Given the description of an element on the screen output the (x, y) to click on. 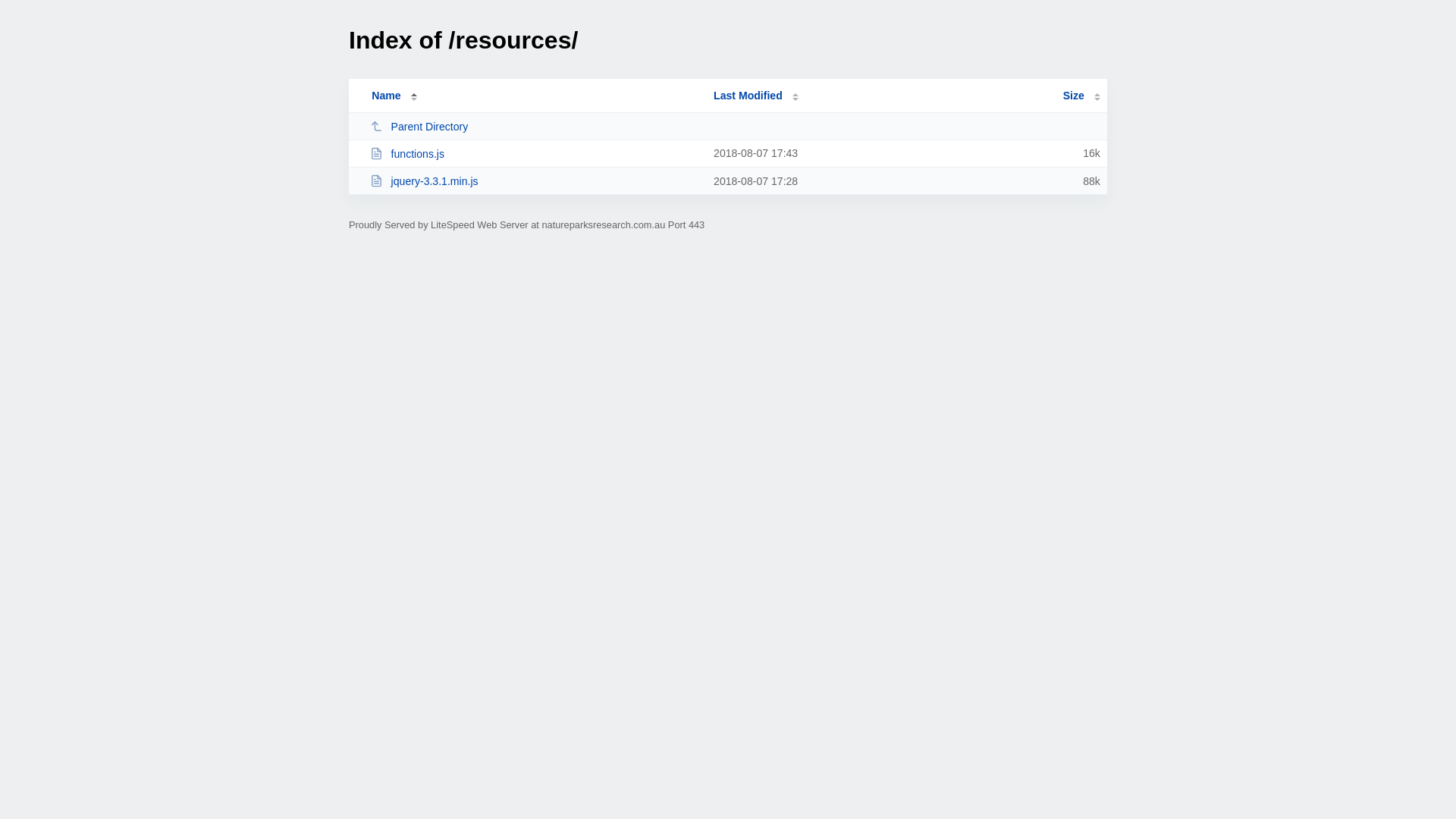
functions.js Element type: text (534, 153)
Parent Directory Element type: text (534, 125)
Size Element type: text (1081, 95)
jquery-3.3.1.min.js Element type: text (534, 180)
Last Modified Element type: text (755, 95)
Name Element type: text (385, 95)
